Given the description of an element on the screen output the (x, y) to click on. 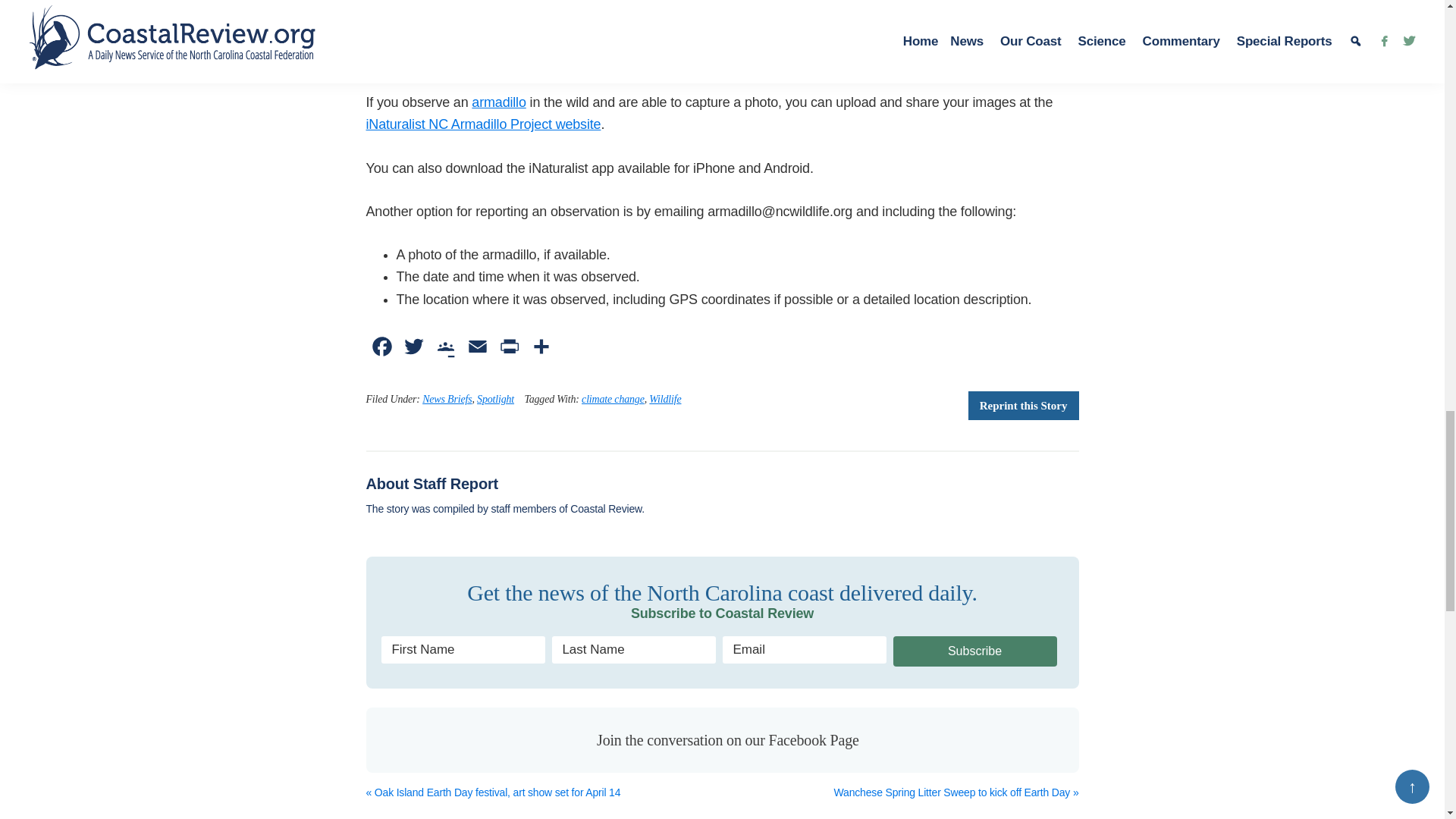
Email (477, 350)
Facebook (381, 350)
Subscribe (975, 651)
Twitter (413, 350)
PrintFriendly (508, 350)
Google Classroom (445, 350)
